Given the description of an element on the screen output the (x, y) to click on. 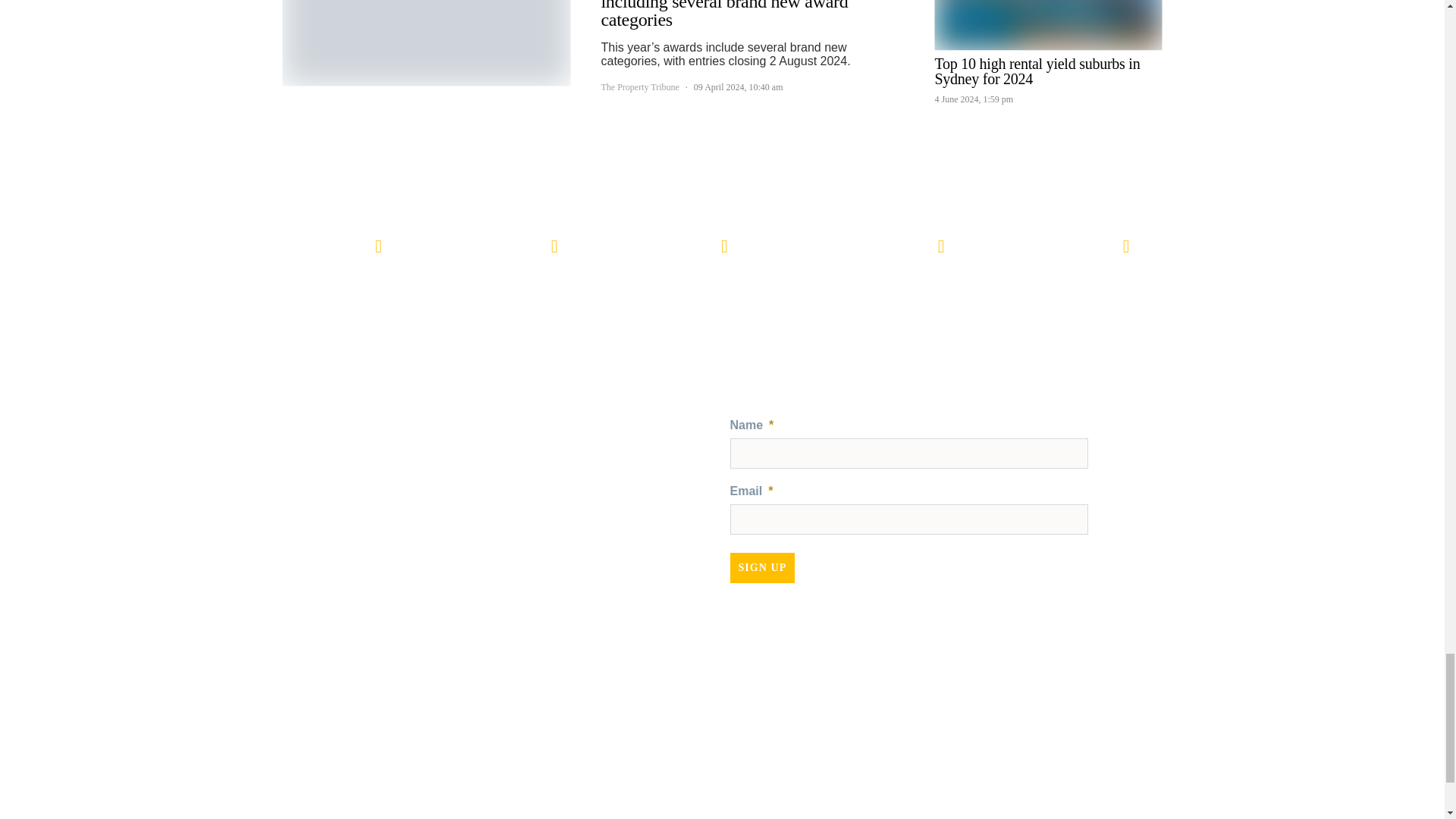
Sign up (761, 567)
The Property Tribune (528, 438)
View all posts by The Property Tribune (638, 87)
